Given the description of an element on the screen output the (x, y) to click on. 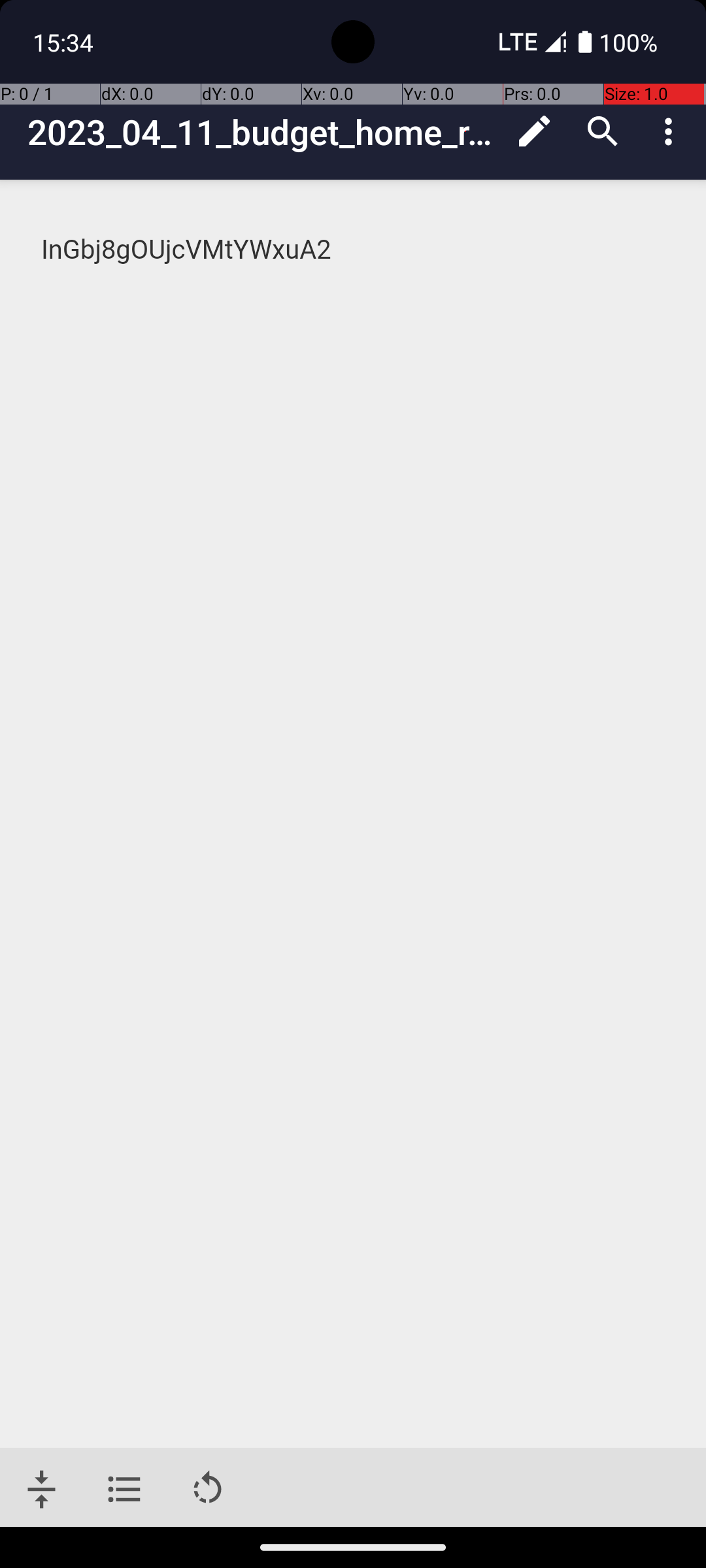
2023_04_11_budget_home_renovation Element type: android.widget.TextView (263, 131)
InGbj8gOUjcVMtYWxuA2 Element type: android.widget.TextView (354, 249)
